Given the description of an element on the screen output the (x, y) to click on. 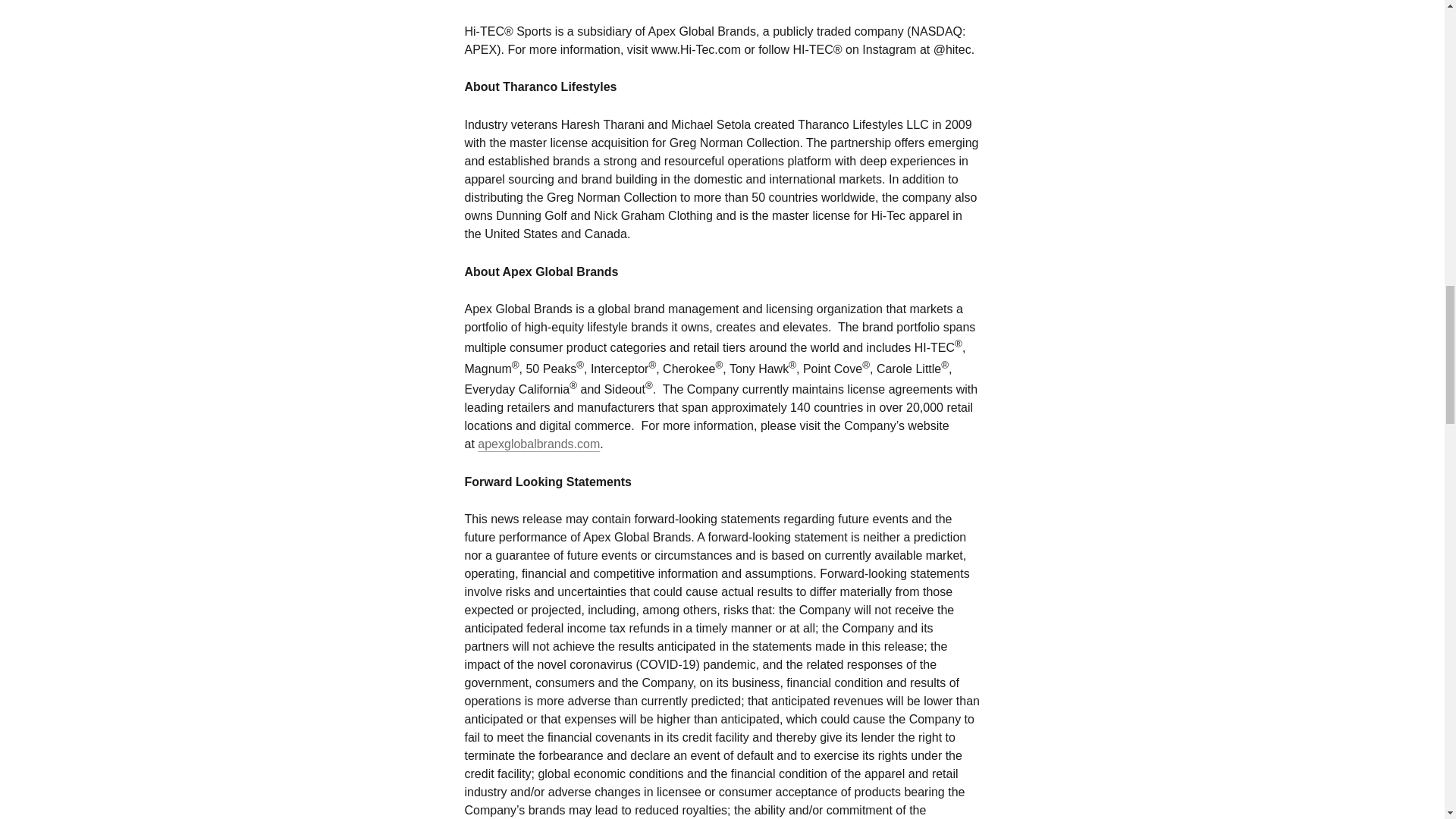
apexglobalbrands.com (538, 443)
